Given the description of an element on the screen output the (x, y) to click on. 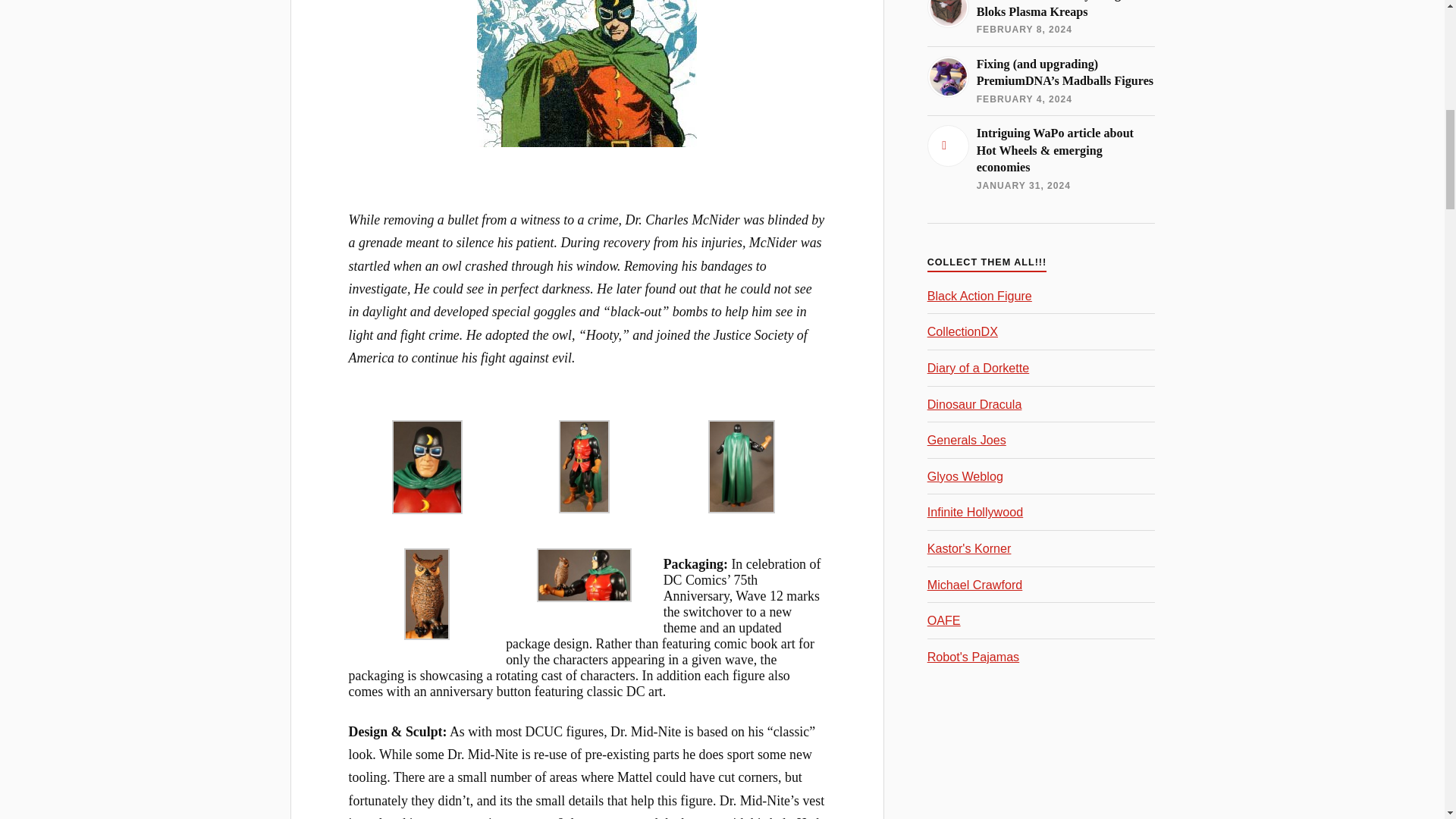
doctormidnite (587, 73)
